Given the description of an element on the screen output the (x, y) to click on. 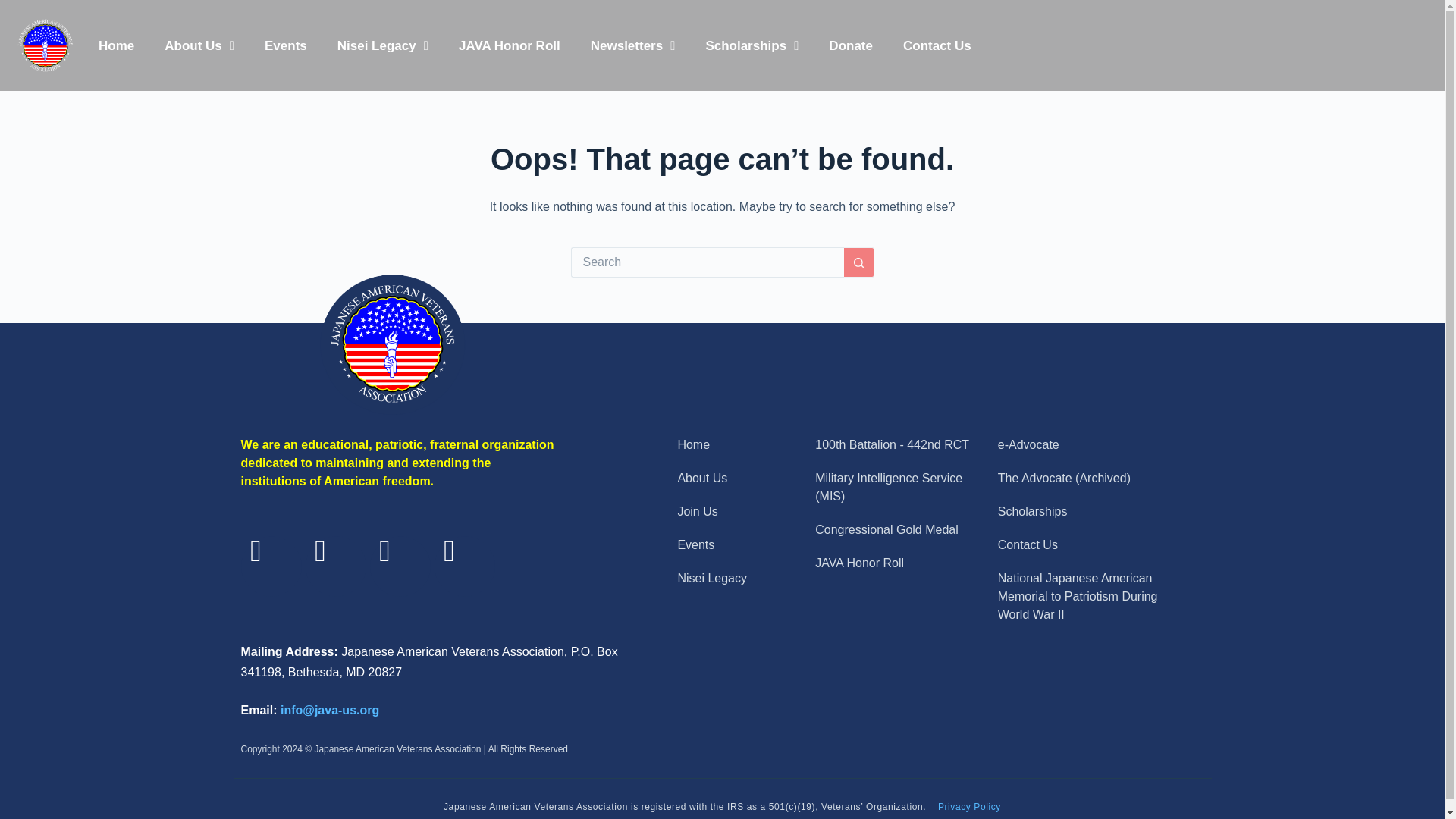
Home (115, 45)
Skip to content (15, 7)
Newsletters (632, 45)
About Us (198, 45)
Contact Us (937, 45)
Donate (850, 45)
Nisei Legacy (382, 45)
Search for... (706, 262)
Scholarships (751, 45)
Events (284, 45)
JAVA Logo (44, 45)
JAVA Honor Roll (509, 45)
